Given the description of an element on the screen output the (x, y) to click on. 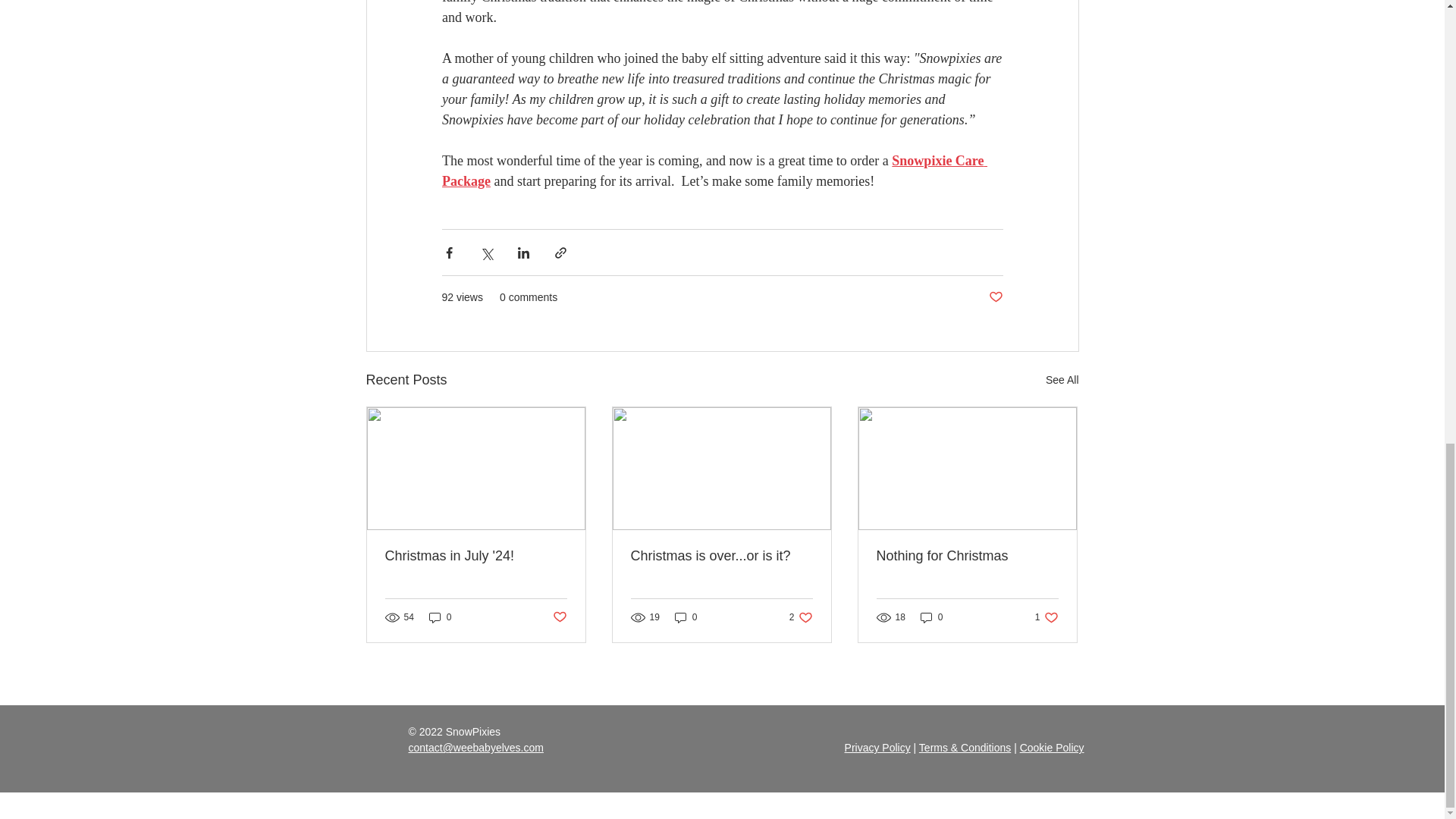
Post not marked as liked (995, 297)
0 (440, 617)
0 (685, 617)
Nothing for Christmas (967, 555)
Christmas is over...or is it? (721, 555)
Christmas in July '24! (476, 555)
See All (1061, 380)
Snowpixie Care Package (714, 170)
Post not marked as liked (558, 617)
